Given the description of an element on the screen output the (x, y) to click on. 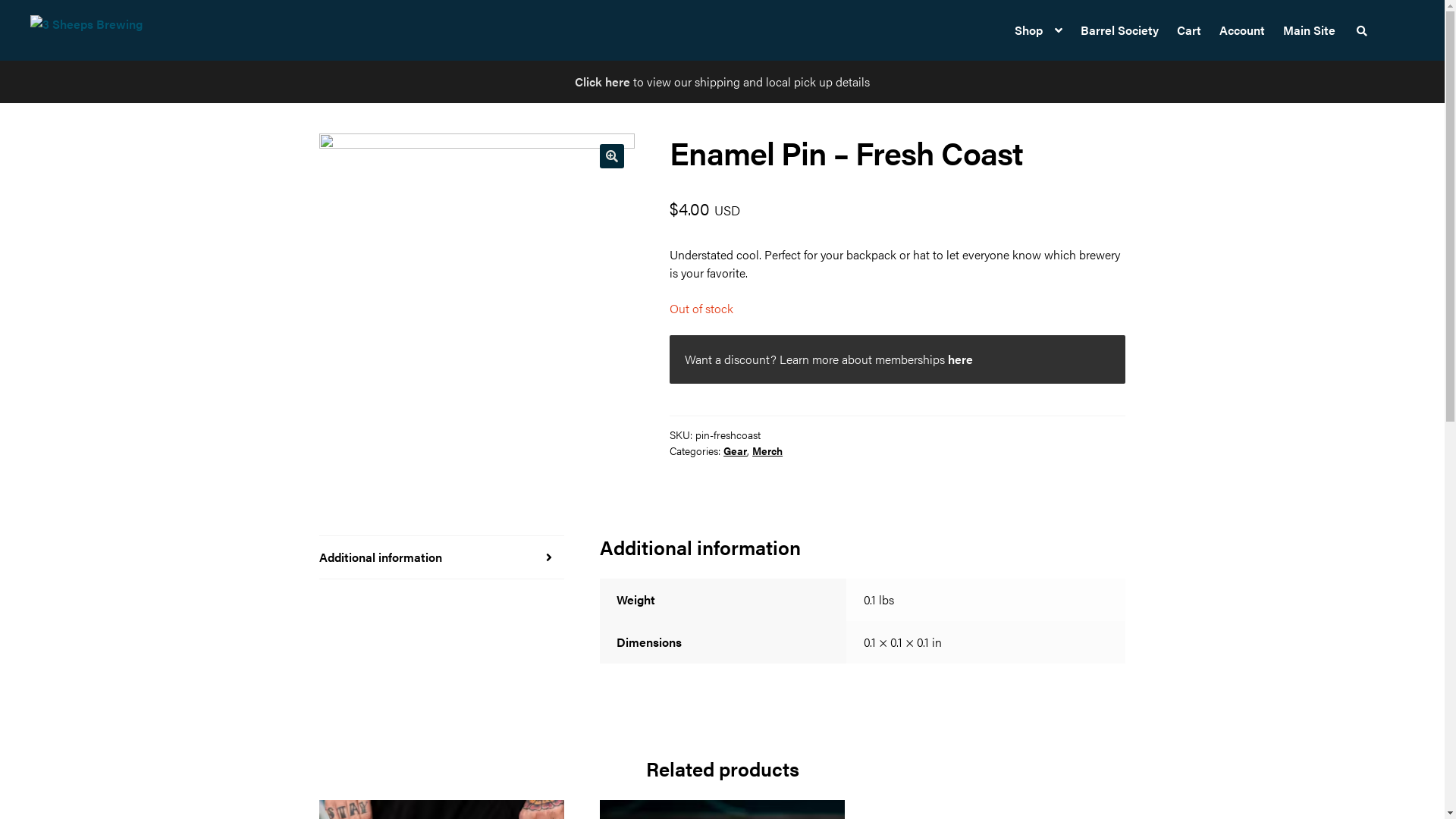
Main Site Element type: text (1309, 30)
Merch Element type: text (767, 450)
Shop Element type: text (1038, 30)
Barrel Society Element type: text (1119, 30)
Account Element type: text (1241, 30)
Cart Element type: text (1188, 30)
Click here Element type: text (602, 81)
Gear Element type: text (734, 450)
Additional information Element type: text (441, 557)
Search the shop Element type: text (1361, 30)
EnamelPin-FreshCoast Element type: hover (476, 290)
here Element type: text (959, 358)
